Given the description of an element on the screen output the (x, y) to click on. 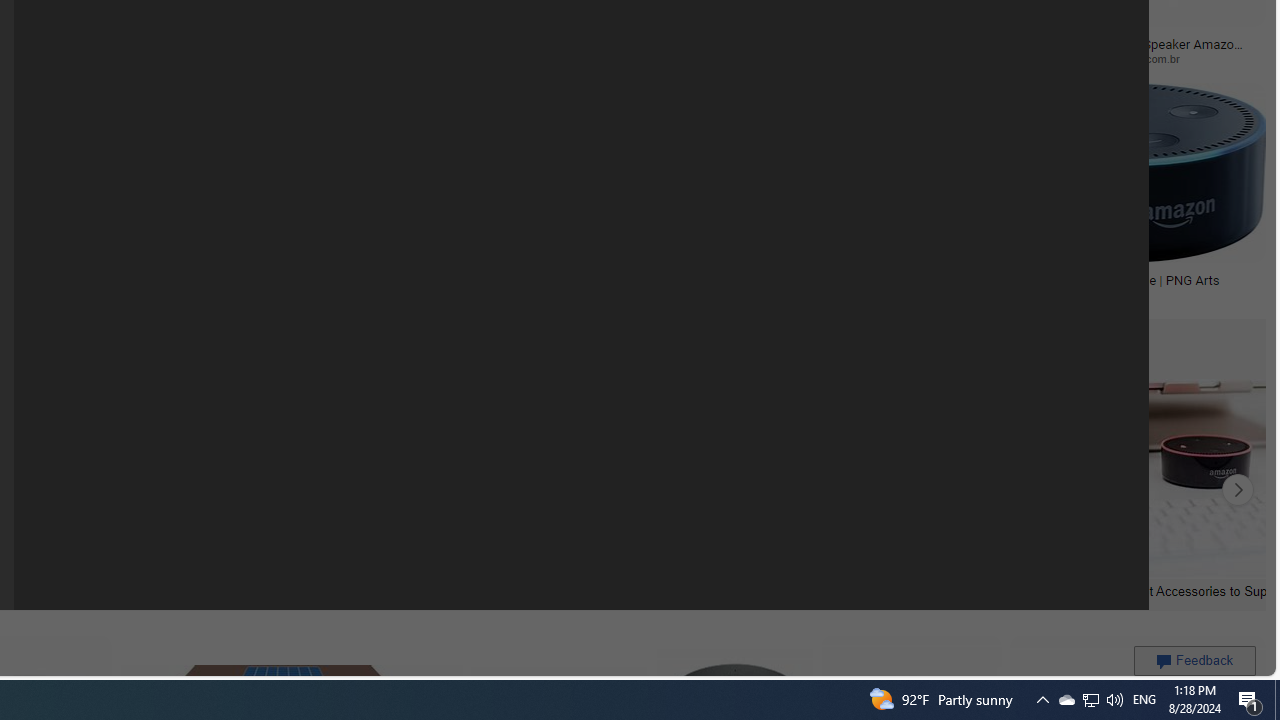
Amazon Echo - Always ready, connected and fast. Just ask. (603, 286)
Image result for Amazon Echo Dot PNG (1122, 172)
avenidatecnologica.com (905, 57)
pngkey.com (139, 57)
Amazon Echo Dot Kids Edition - 5th Generation (117, 286)
energyearth.com (116, 295)
currys.co.uk (602, 295)
amazon.com.mx (484, 57)
Echo Dot Accessories (175, 589)
